Given the description of an element on the screen output the (x, y) to click on. 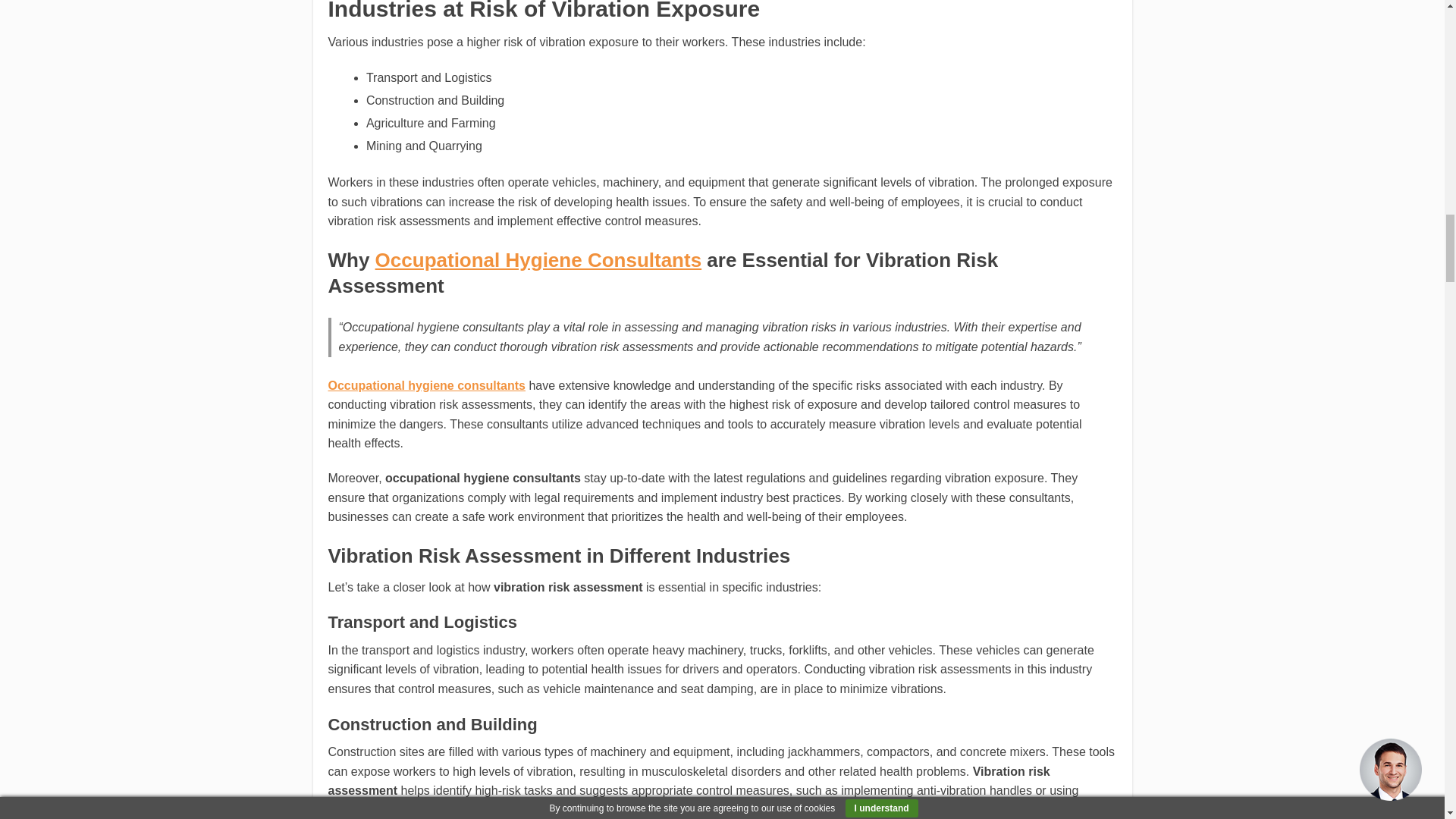
Occupational Hygiene Consultants (538, 259)
Occupational hygiene consultants (426, 385)
